Given the description of an element on the screen output the (x, y) to click on. 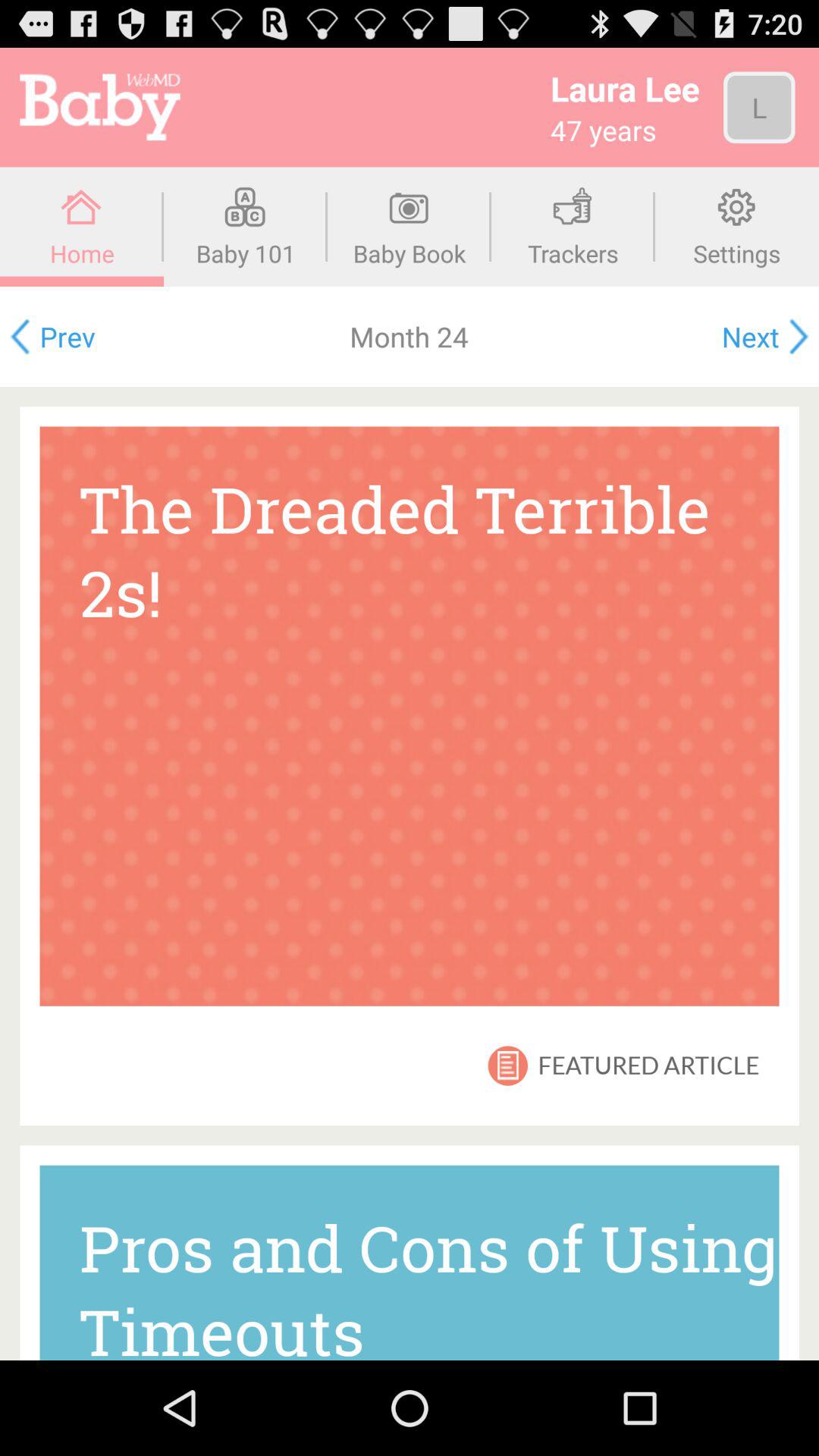
go to settings (737, 226)
go to baby 101 (245, 226)
select the text box which says baby book (409, 226)
